Given the description of an element on the screen output the (x, y) to click on. 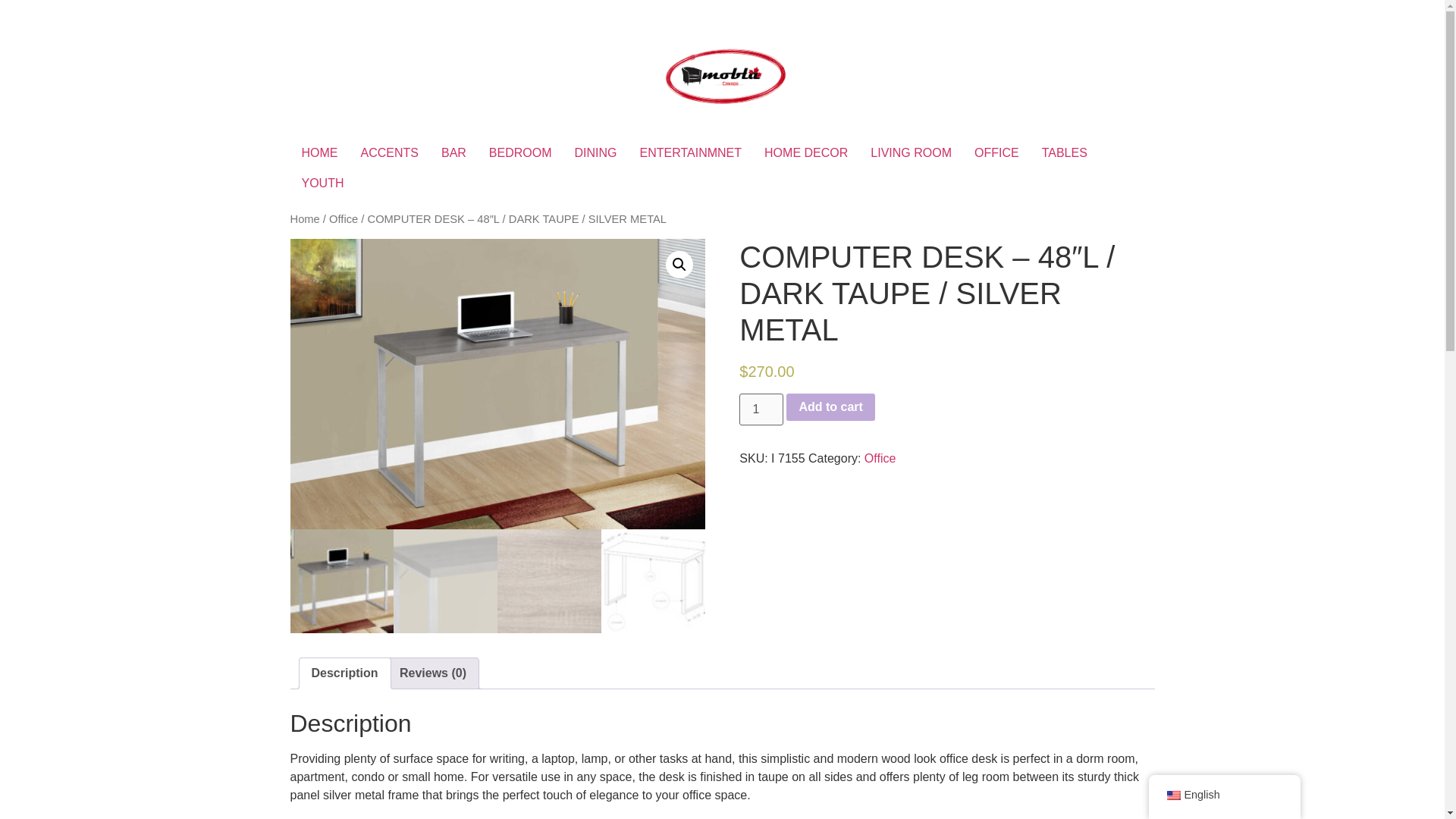
Home (303, 218)
BEDROOM (520, 153)
DINING (595, 153)
1 (761, 409)
Description (344, 673)
ACCENTS (389, 153)
English (1172, 795)
HOME DECOR (805, 153)
BAR (453, 153)
OFFICE (996, 153)
